Given the description of an element on the screen output the (x, y) to click on. 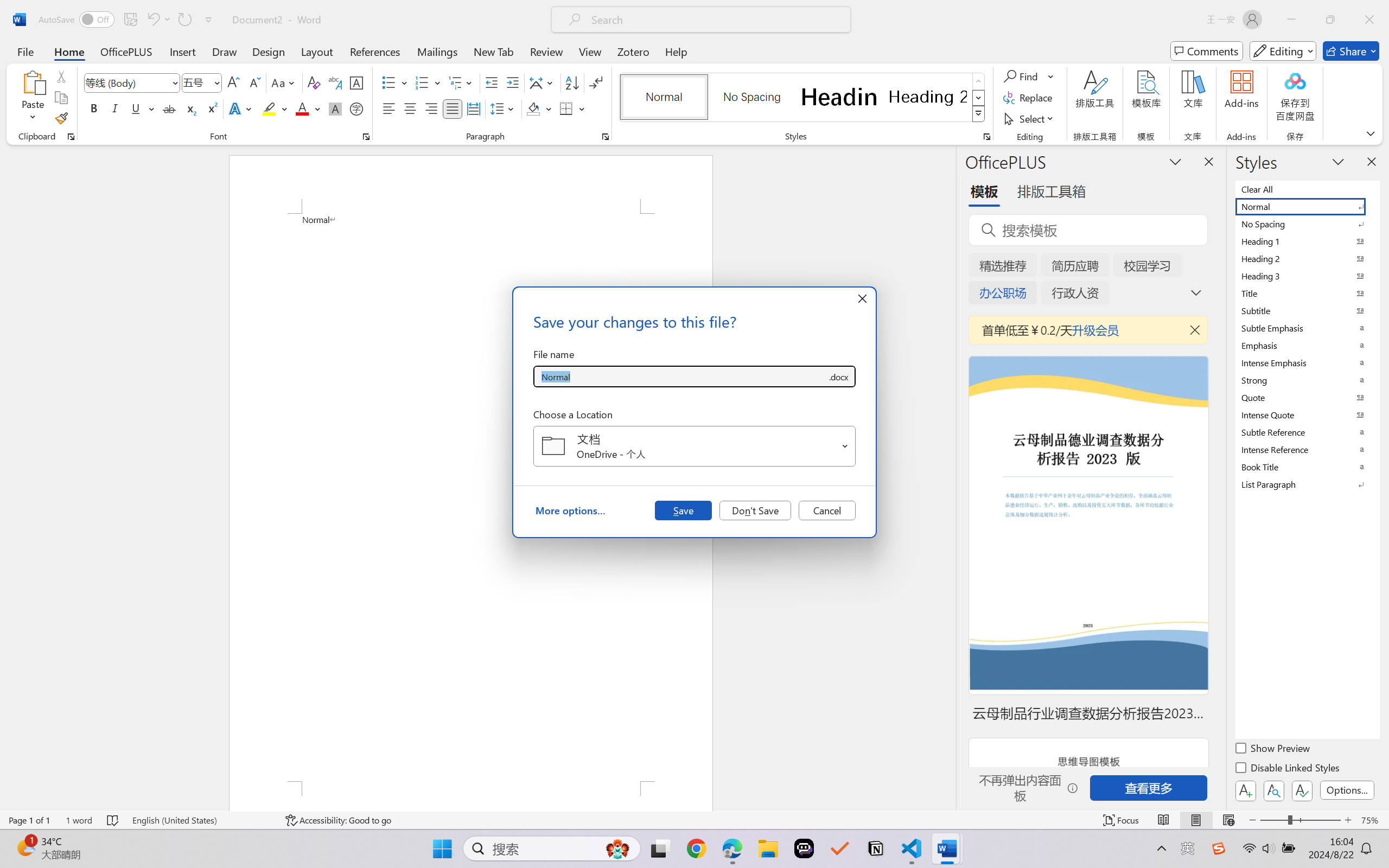
AutoSave (76, 19)
Find (1022, 75)
Underline (142, 108)
Draw (224, 51)
Font (132, 82)
Character Border (356, 82)
Notion (875, 848)
Justify (452, 108)
Paste (33, 81)
Strong (1306, 379)
